Given the description of an element on the screen output the (x, y) to click on. 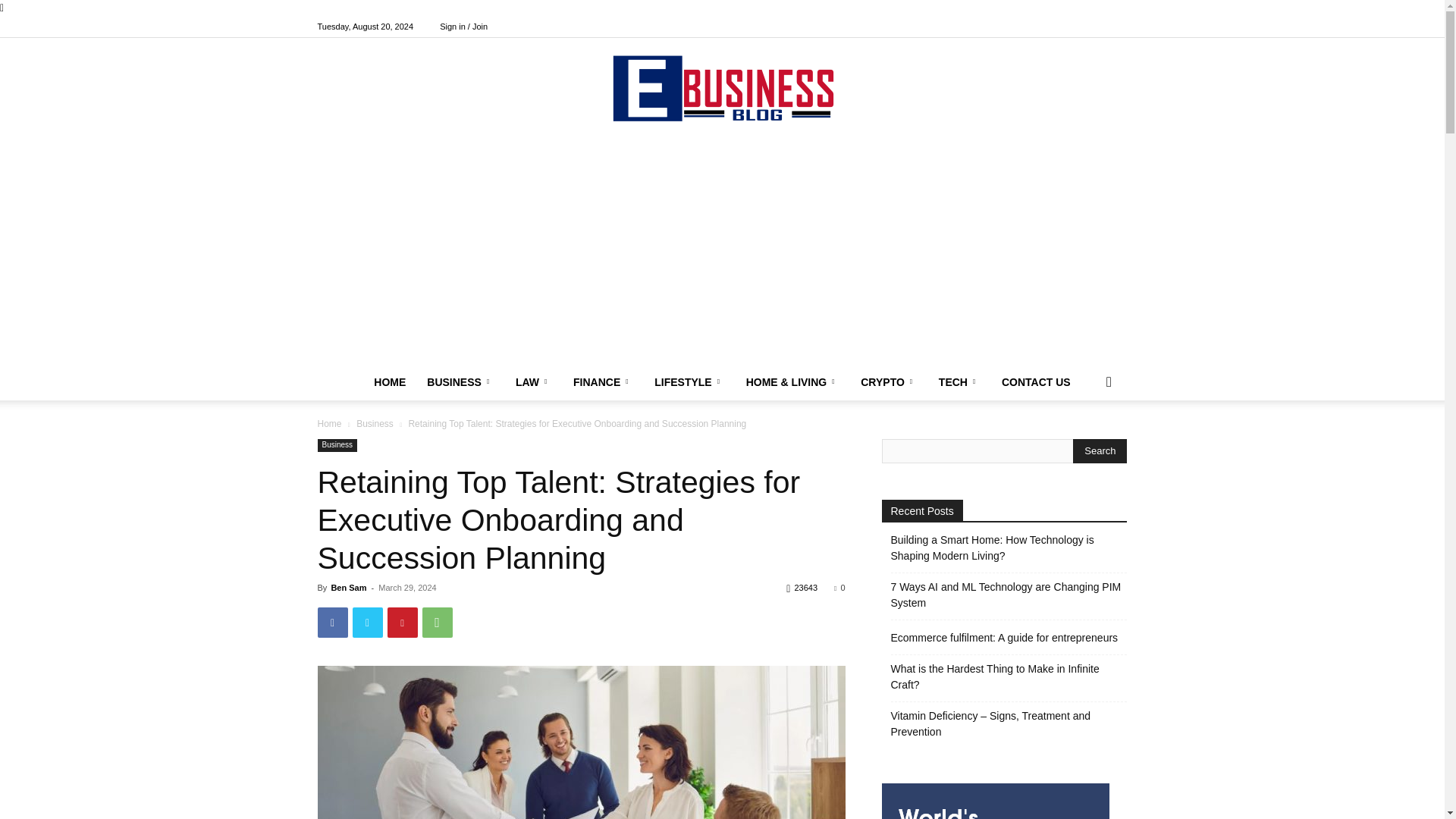
Search (1099, 450)
BUSINESS (460, 381)
HOME (389, 381)
LAW (533, 381)
